Given the description of an element on the screen output the (x, y) to click on. 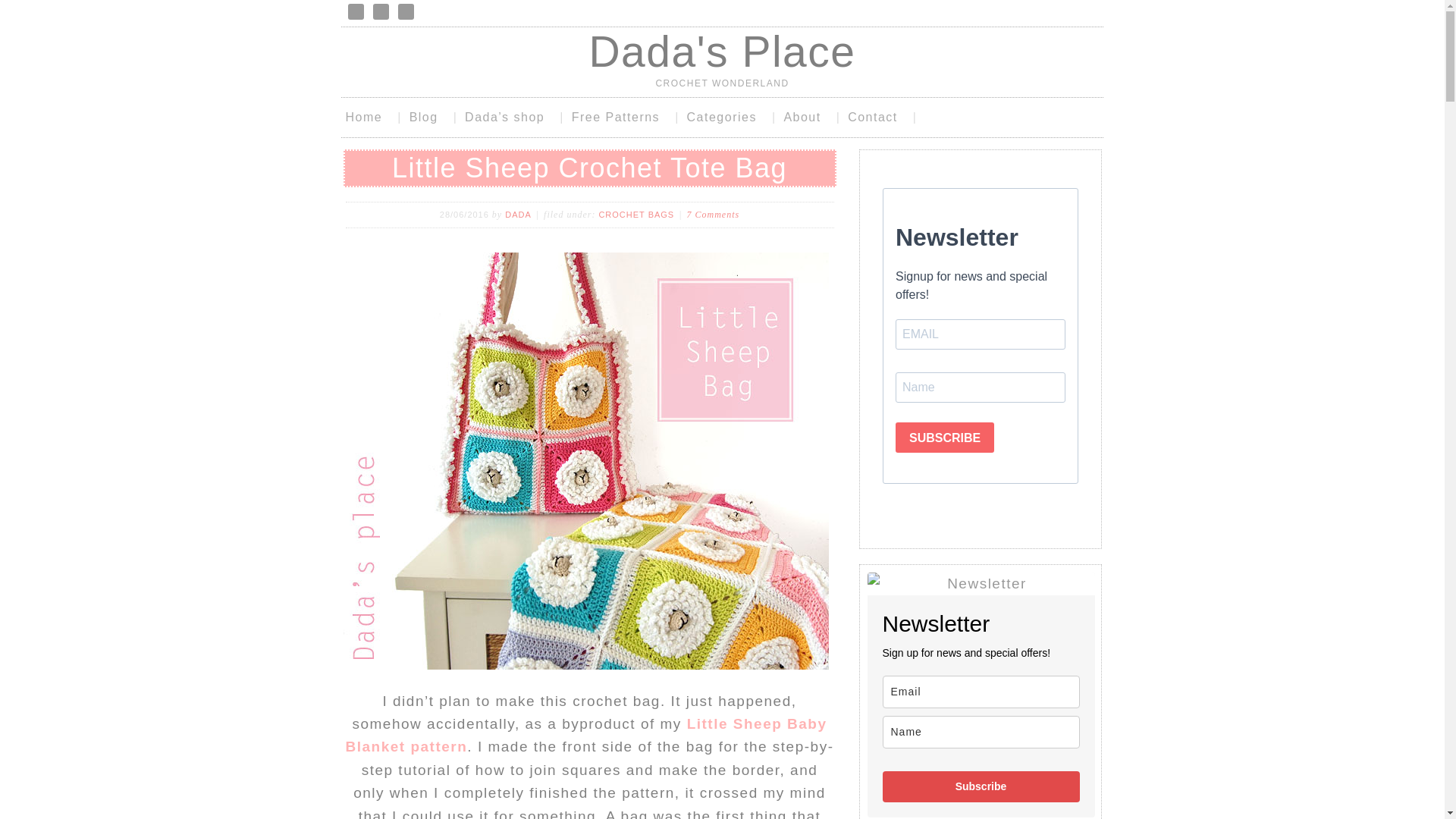
Home (371, 117)
Free Patterns (624, 117)
7 Comments (713, 214)
CROCHET BAGS (636, 214)
Contact (881, 117)
Categories (730, 117)
Little Sheep Baby Blanket pattern (586, 734)
DADA (518, 214)
Blog (432, 117)
Dada's Place (722, 51)
About (810, 117)
